Given the description of an element on the screen output the (x, y) to click on. 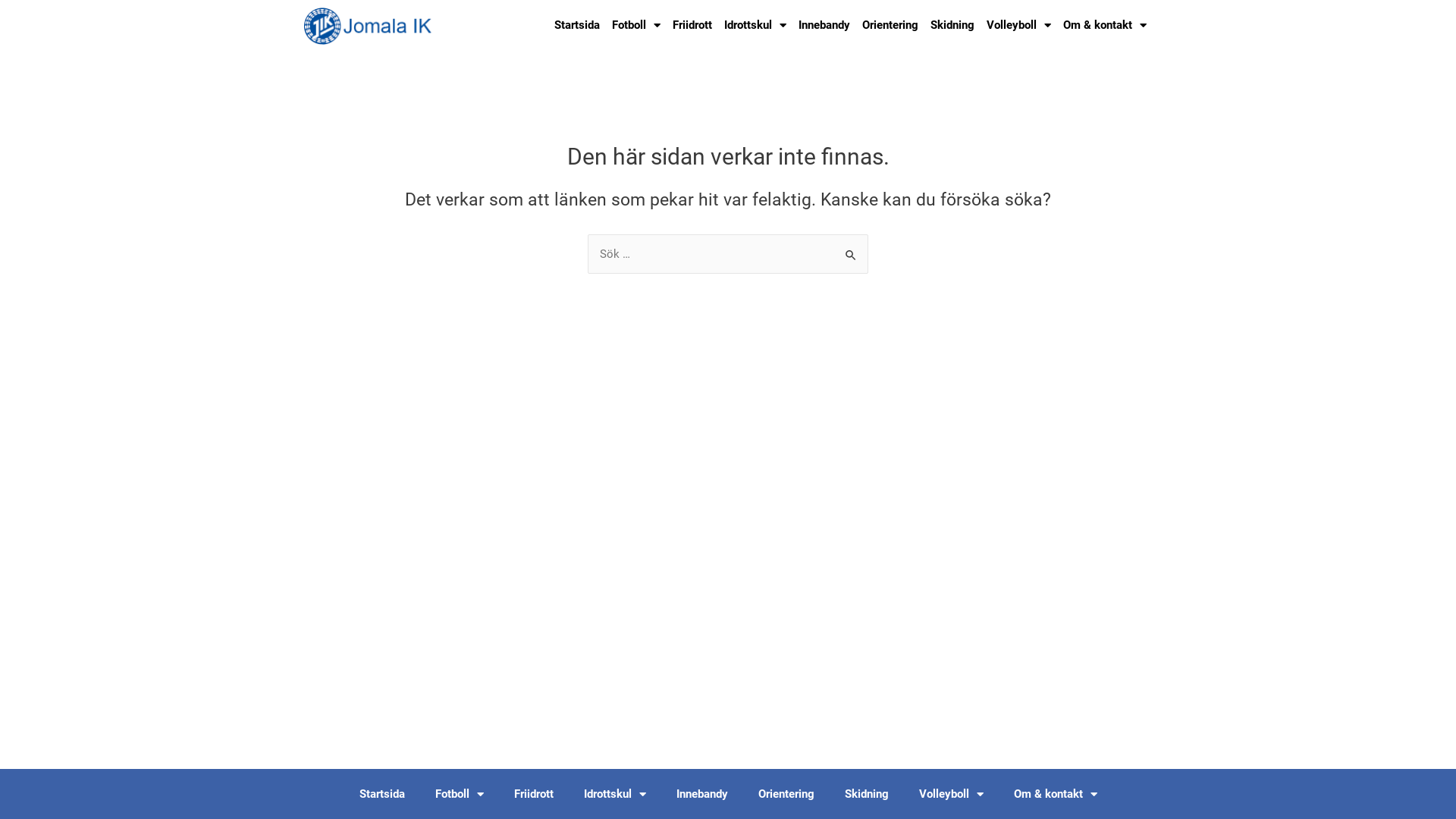
Om & kontakt Element type: text (1104, 24)
Fotboll Element type: text (635, 24)
Idrottskul Element type: text (755, 24)
Idrottskul Element type: text (614, 793)
Friidrott Element type: text (533, 793)
Orientering Element type: text (890, 24)
Skidning Element type: text (866, 793)
Om & kontakt Element type: text (1054, 793)
Friidrott Element type: text (692, 24)
Skidning Element type: text (952, 24)
Startsida Element type: text (576, 24)
Volleyboll Element type: text (950, 793)
Fotboll Element type: text (459, 793)
Volleyboll Element type: text (1018, 24)
Startsida Element type: text (382, 793)
Innebandy Element type: text (702, 793)
Innebandy Element type: text (824, 24)
Orientering Element type: text (786, 793)
